Given the description of an element on the screen output the (x, y) to click on. 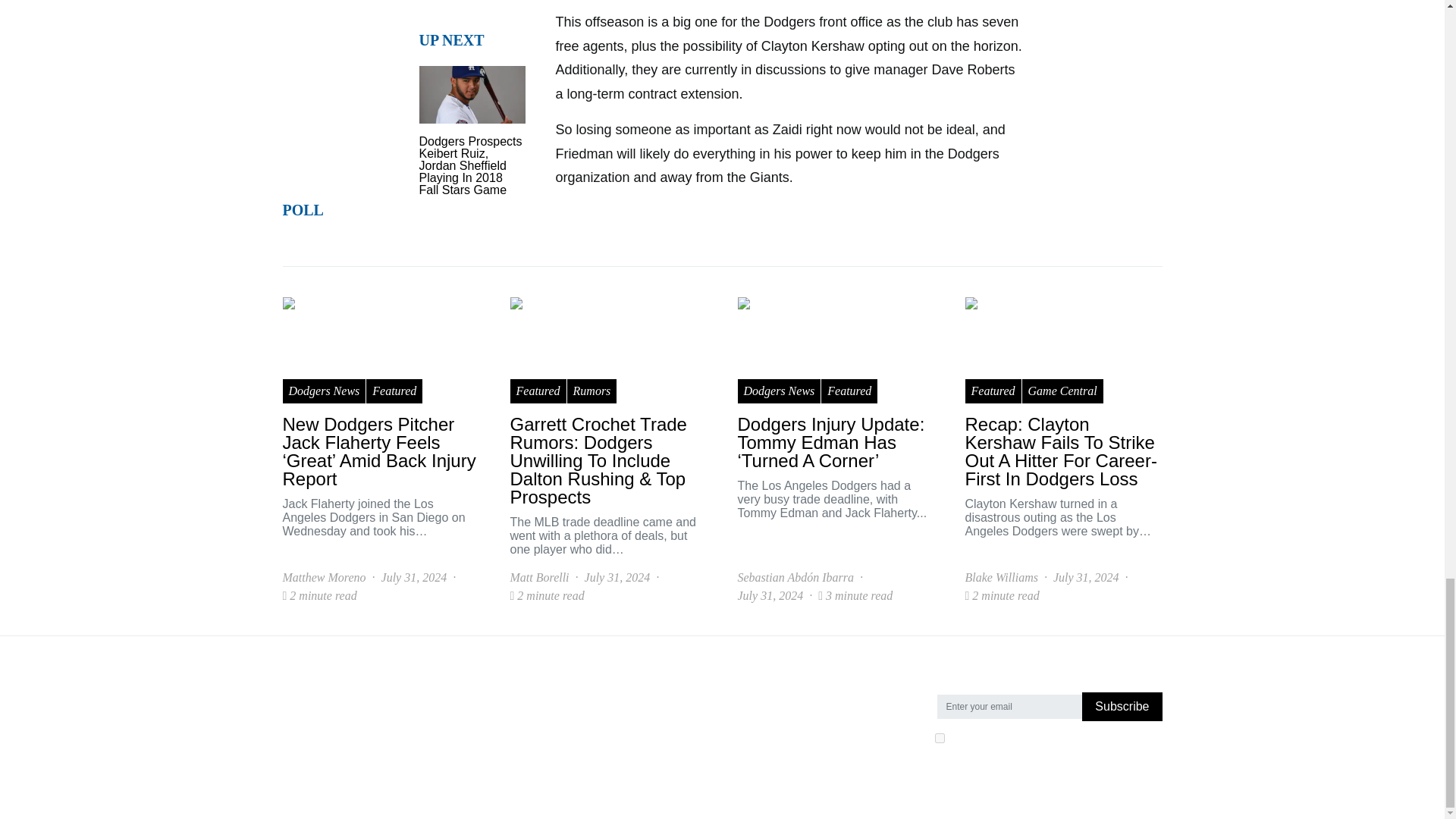
View all posts by Matt Borelli (539, 577)
on (938, 737)
View all posts by Blake Williams (999, 577)
View all posts by Matthew Moreno (323, 577)
